Given the description of an element on the screen output the (x, y) to click on. 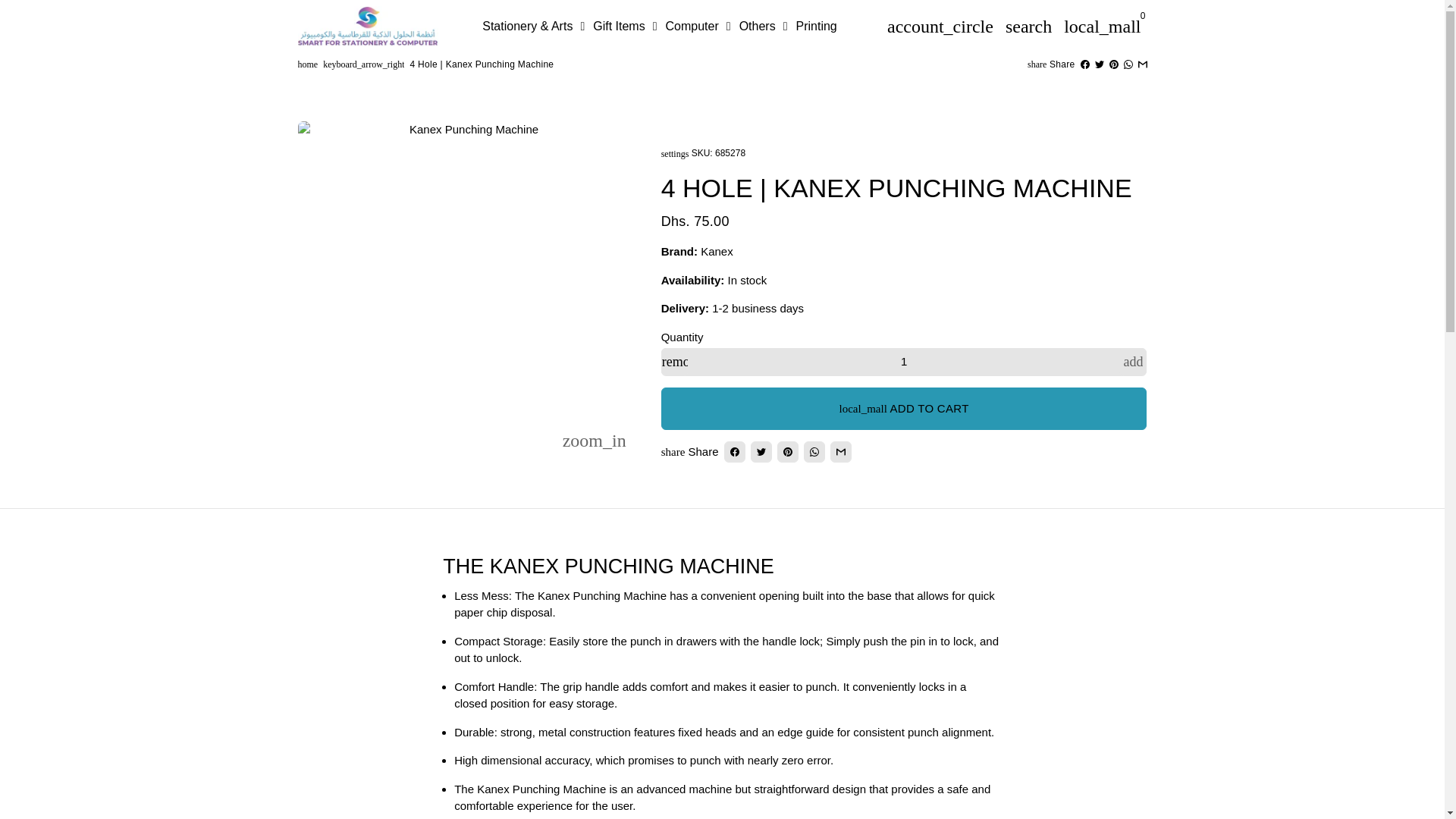
1 (904, 361)
